Given the description of an element on the screen output the (x, y) to click on. 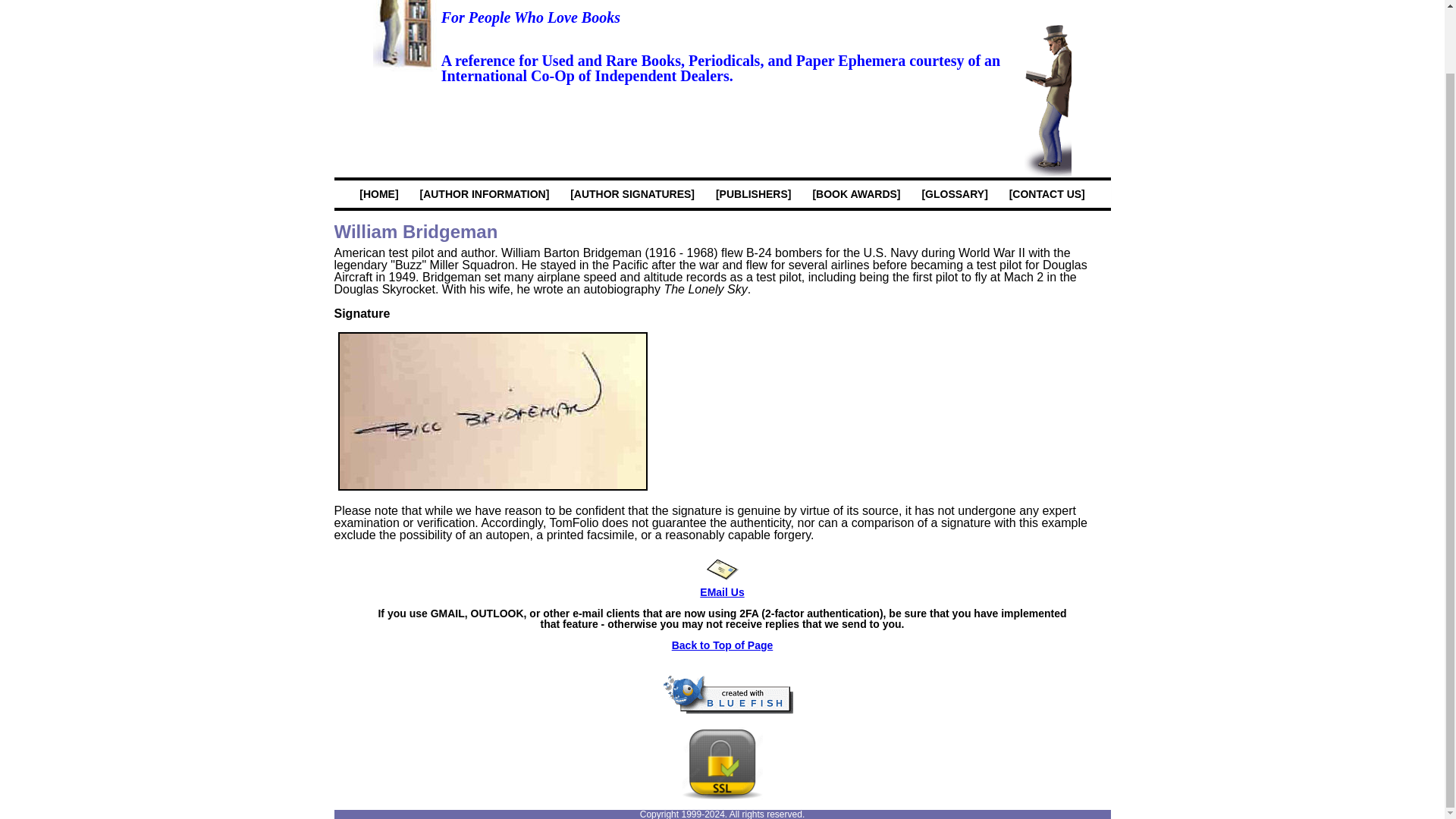
Send EMail (722, 569)
Book Awards (855, 194)
Publisher Information (753, 194)
EMail Us (722, 586)
Glossary (953, 194)
Author Signatures (631, 194)
TomFolio Home Page (378, 194)
Back to Top of Page (722, 645)
Author Information (483, 194)
